Given the description of an element on the screen output the (x, y) to click on. 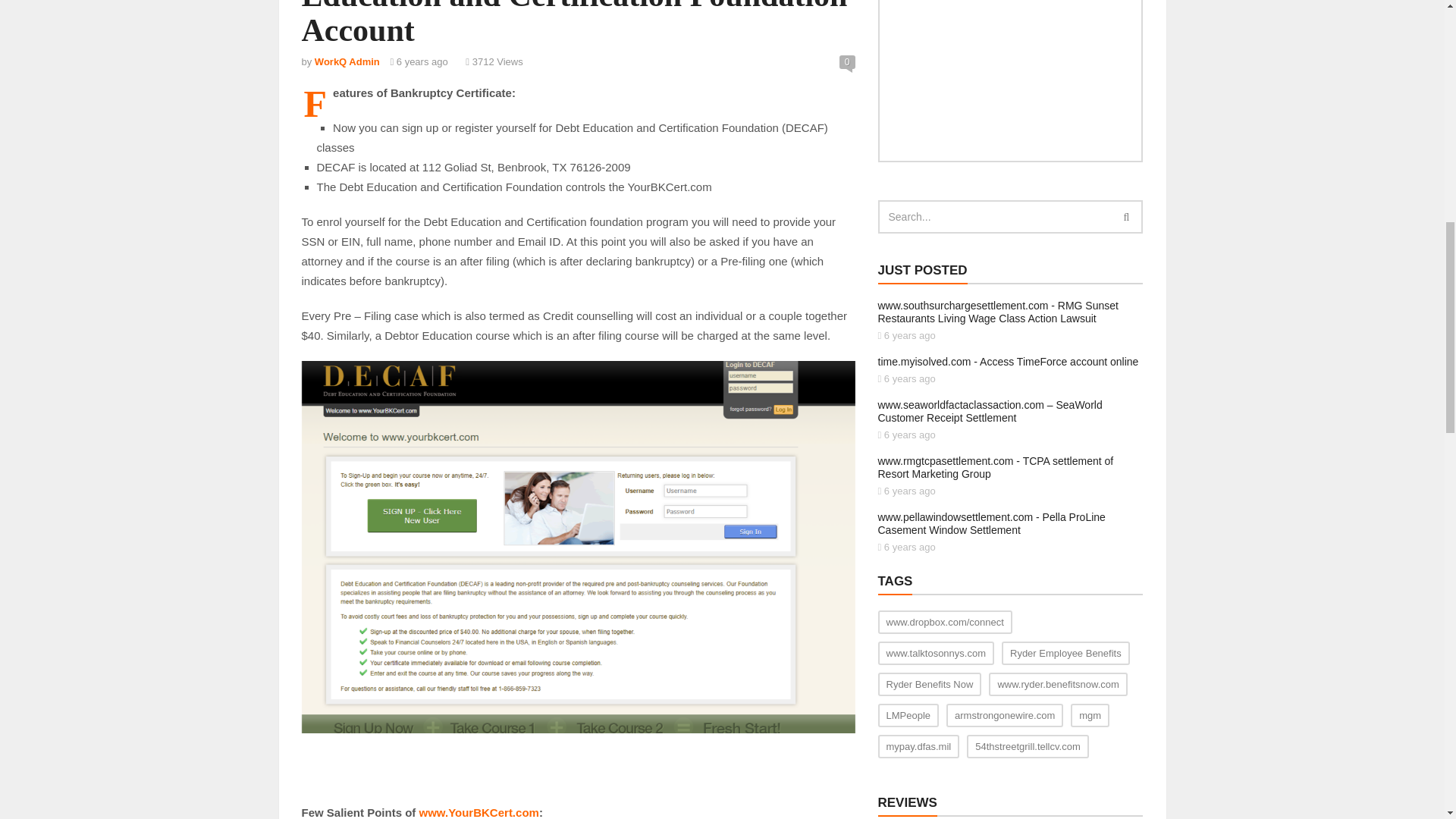
time.myisolved.com - Access TimeForce account online (1007, 361)
WorkQ Admin (347, 61)
Ryder Benefits Now (929, 684)
www.talktosonnys.com (935, 653)
www.ryder.benefitsnow.com (1057, 684)
www.YourBKCert.com (478, 812)
0 (848, 61)
